Given the description of an element on the screen output the (x, y) to click on. 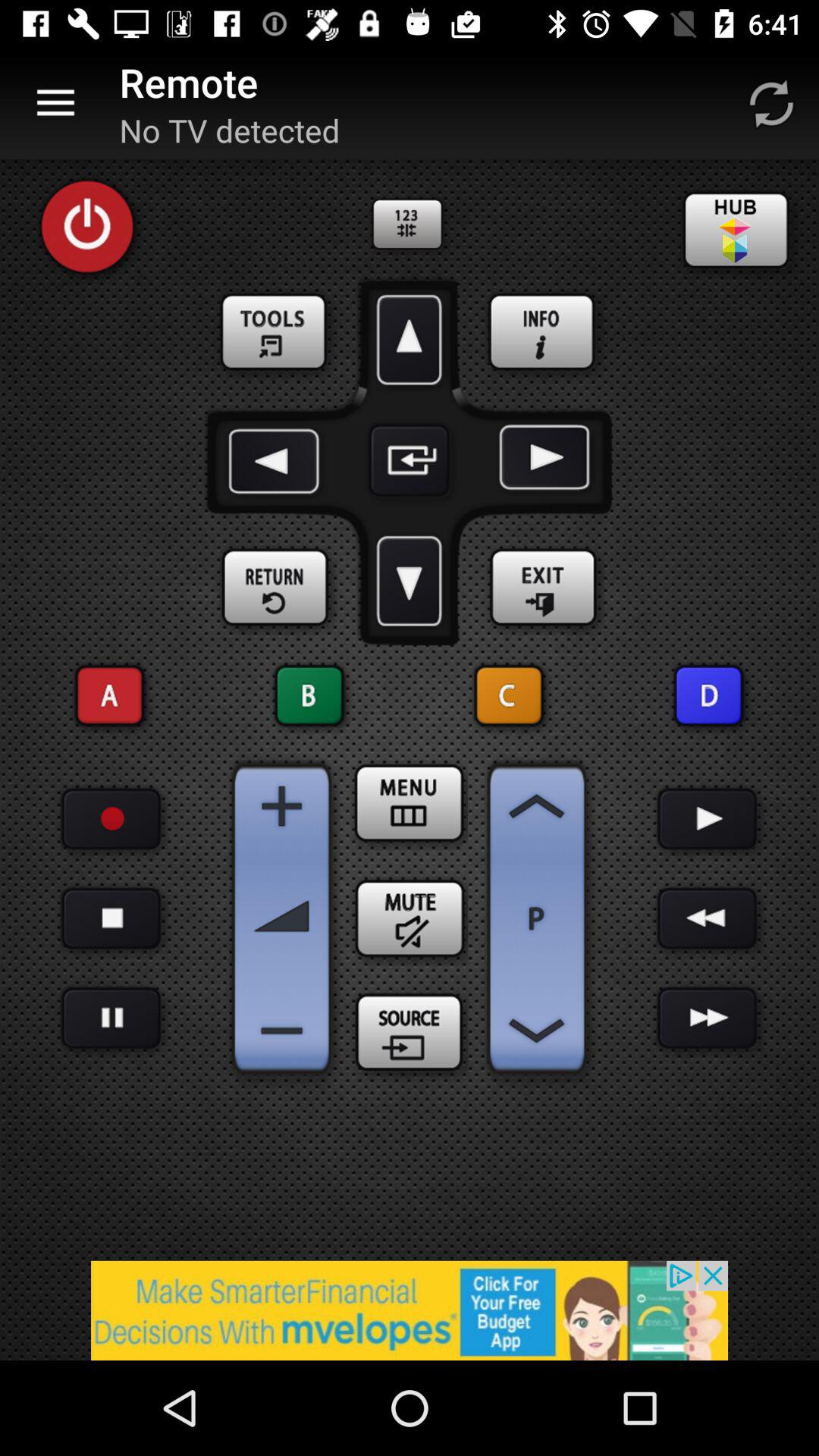
increase volume (281, 806)
